Given the description of an element on the screen output the (x, y) to click on. 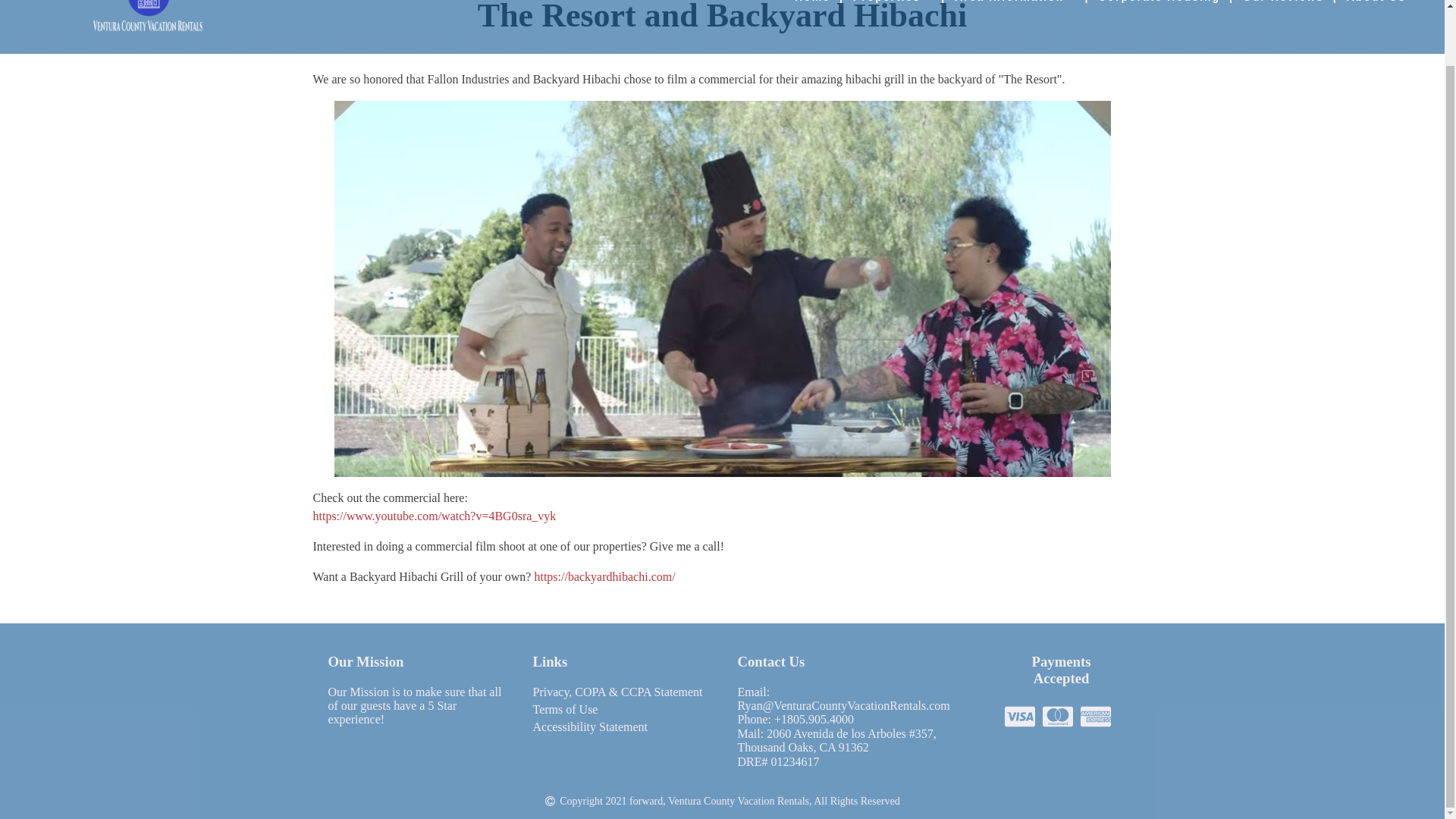
Our Reviews (1283, 2)
About Us (1376, 2)
Corporate Housing (1158, 2)
Accessibility Statement (589, 728)
Terms of Use (564, 711)
Properties (892, 2)
Home (812, 2)
Area Information (1015, 2)
